Given the description of an element on the screen output the (x, y) to click on. 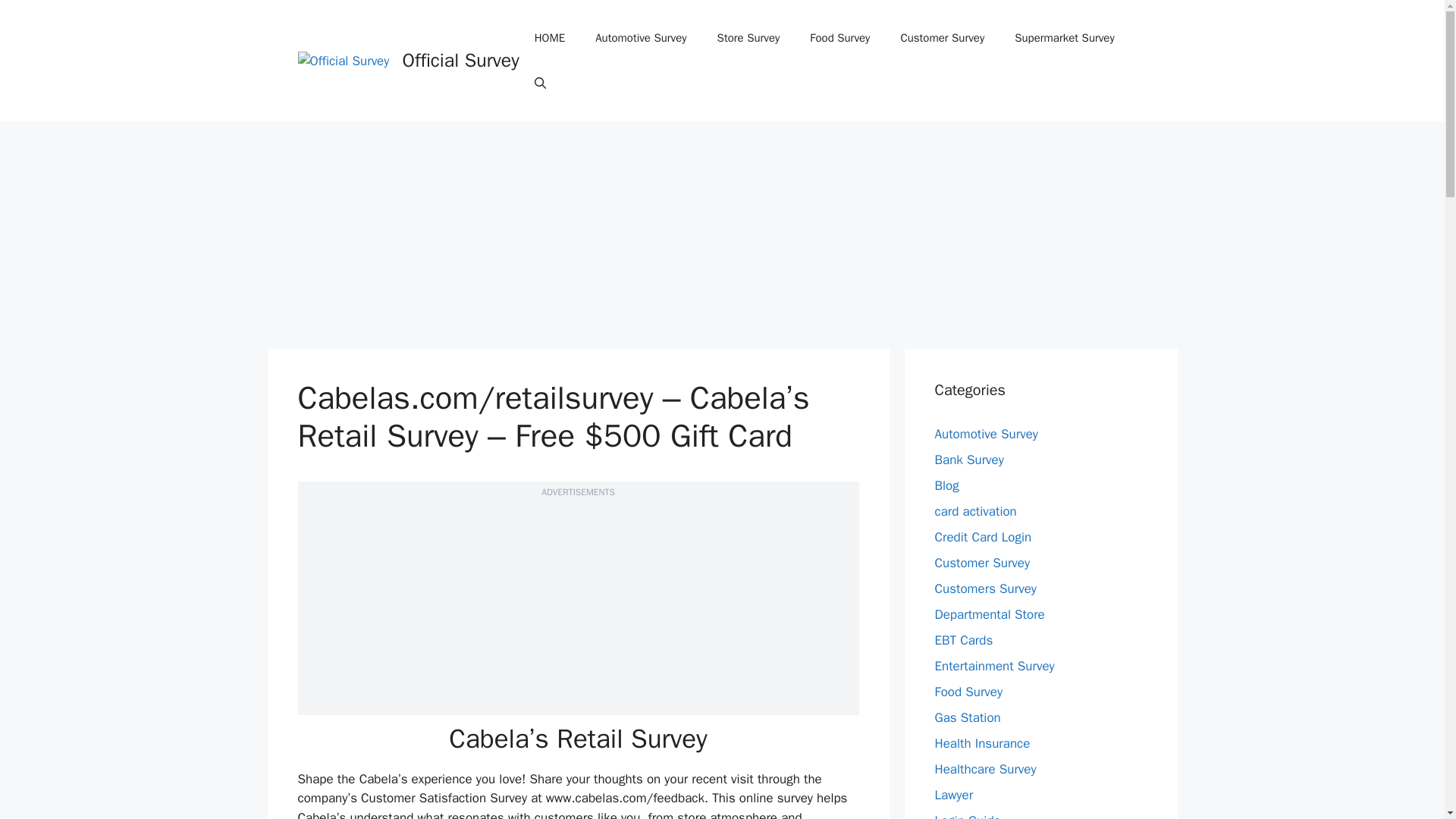
Official Survey (459, 60)
HOME (549, 37)
Advertisement (583, 608)
Customer Survey (941, 37)
Blog (946, 485)
Supermarket Survey (1063, 37)
Automotive Survey (985, 433)
Food Survey (839, 37)
Store Survey (747, 37)
Automotive Survey (640, 37)
ADVERTISEMENTS (577, 491)
Bank Survey (968, 459)
